Given the description of an element on the screen output the (x, y) to click on. 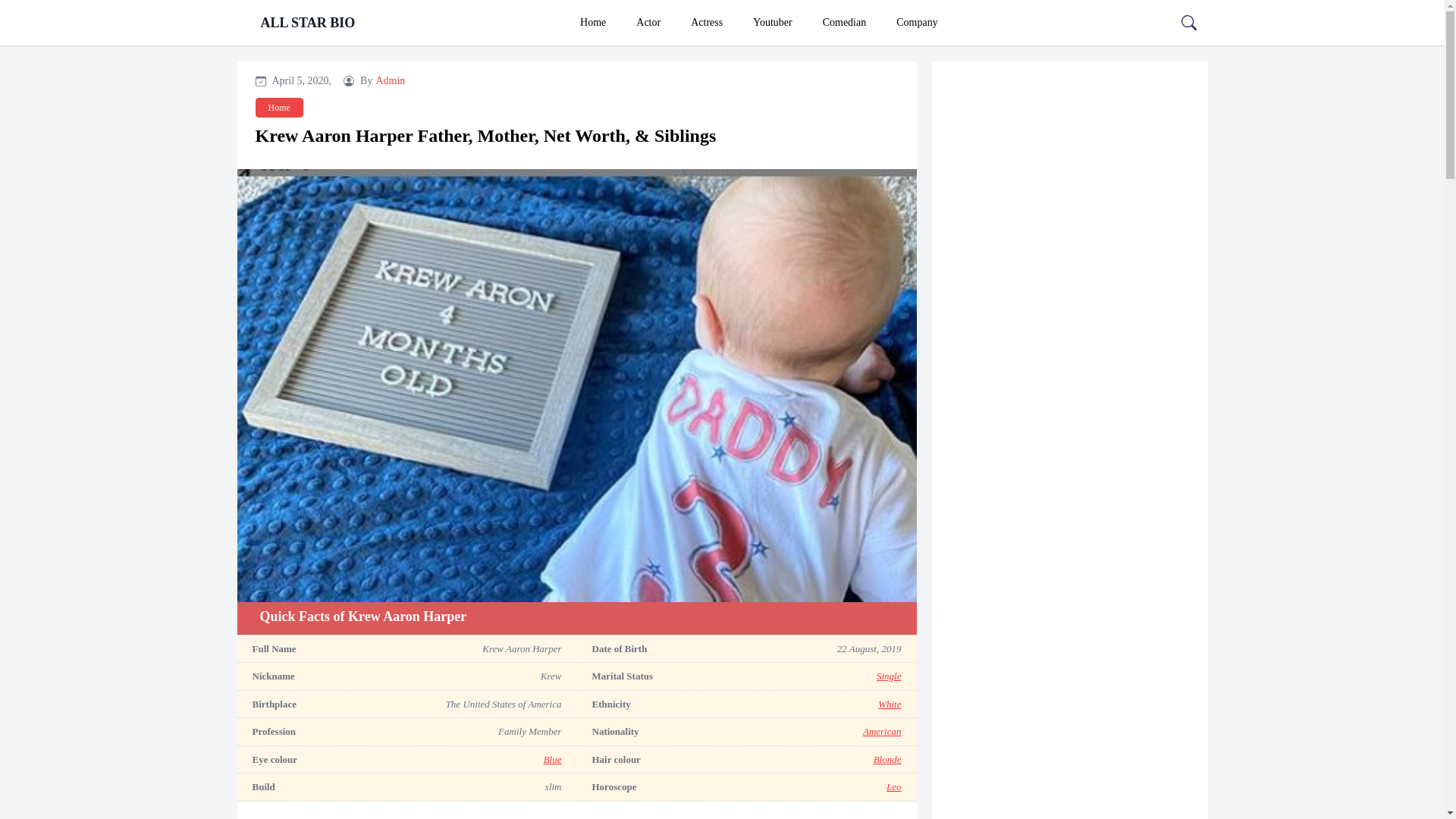
Actor (648, 22)
Admin (389, 80)
Home (278, 107)
White (889, 703)
Company (916, 22)
Youtuber (772, 22)
Blonde (887, 759)
American (882, 731)
Home (592, 22)
Single (888, 676)
Actress (706, 22)
Leo (893, 786)
ALL STAR BIO (307, 22)
Blue (552, 759)
Comedian (845, 22)
